Given the description of an element on the screen output the (x, y) to click on. 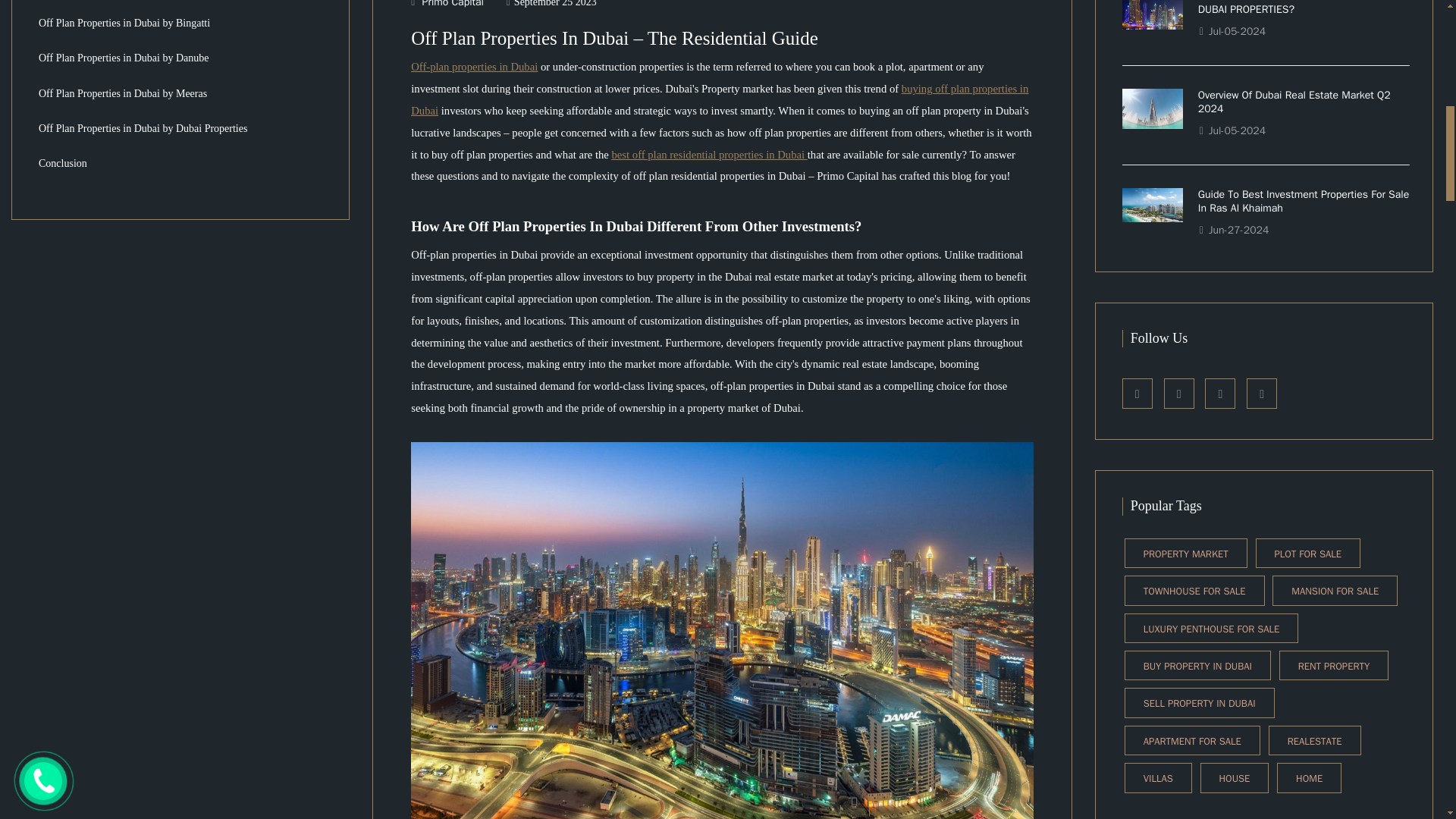
Linkedin (1219, 393)
Facebook (1137, 393)
Twitter (1261, 393)
Instagram (1178, 393)
